Given the description of an element on the screen output the (x, y) to click on. 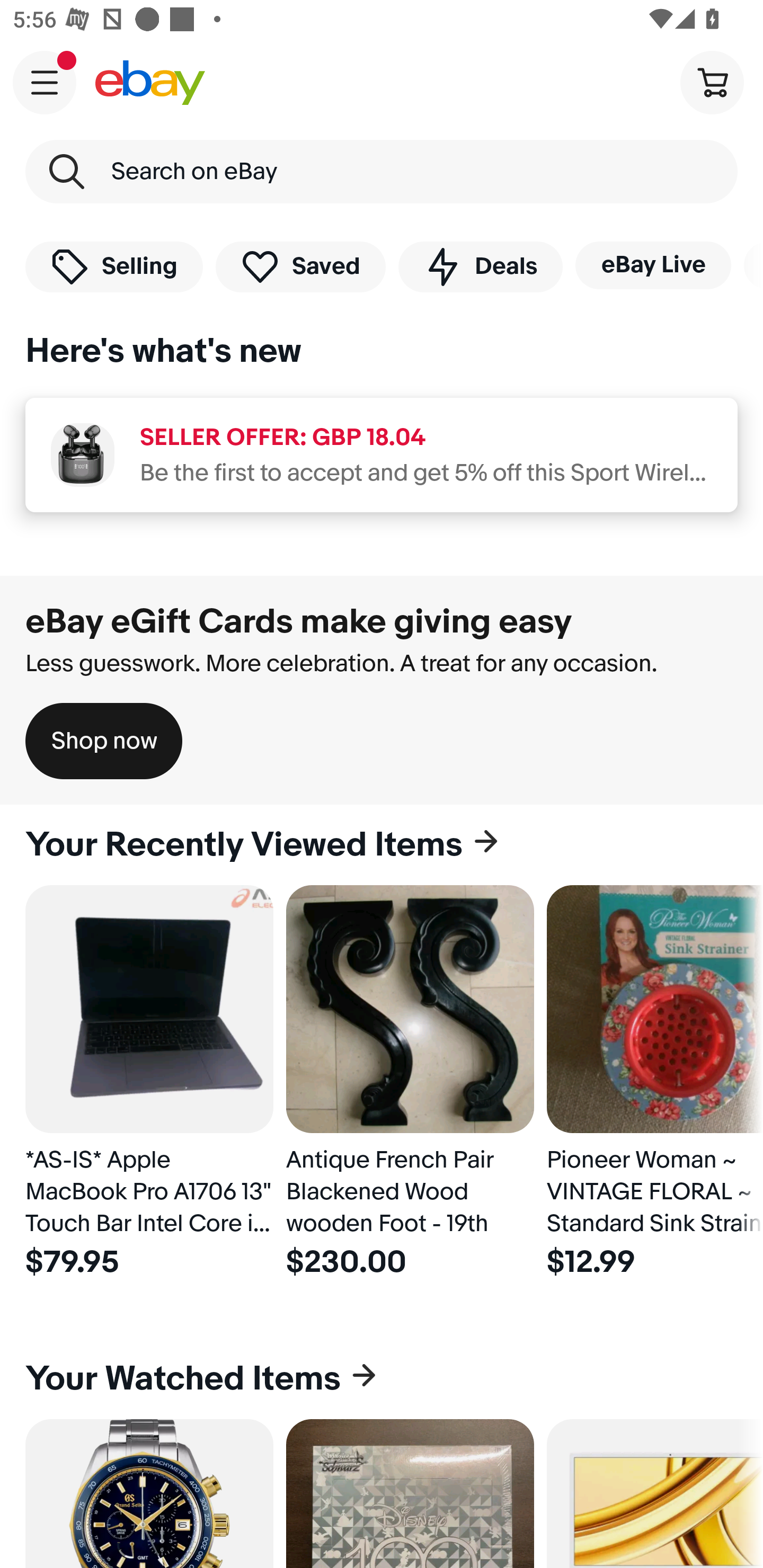
Main navigation, notification is pending, open (44, 82)
Cart button shopping cart (711, 81)
Search on eBay Search Keyword Search on eBay (381, 171)
Selling (113, 266)
Saved (300, 266)
Deals (480, 266)
eBay Live (652, 264)
eBay eGift Cards make giving easy (298, 621)
Shop now (103, 740)
Your Recently Viewed Items   (381, 844)
Your Watched Items   (381, 1379)
